Given the description of an element on the screen output the (x, y) to click on. 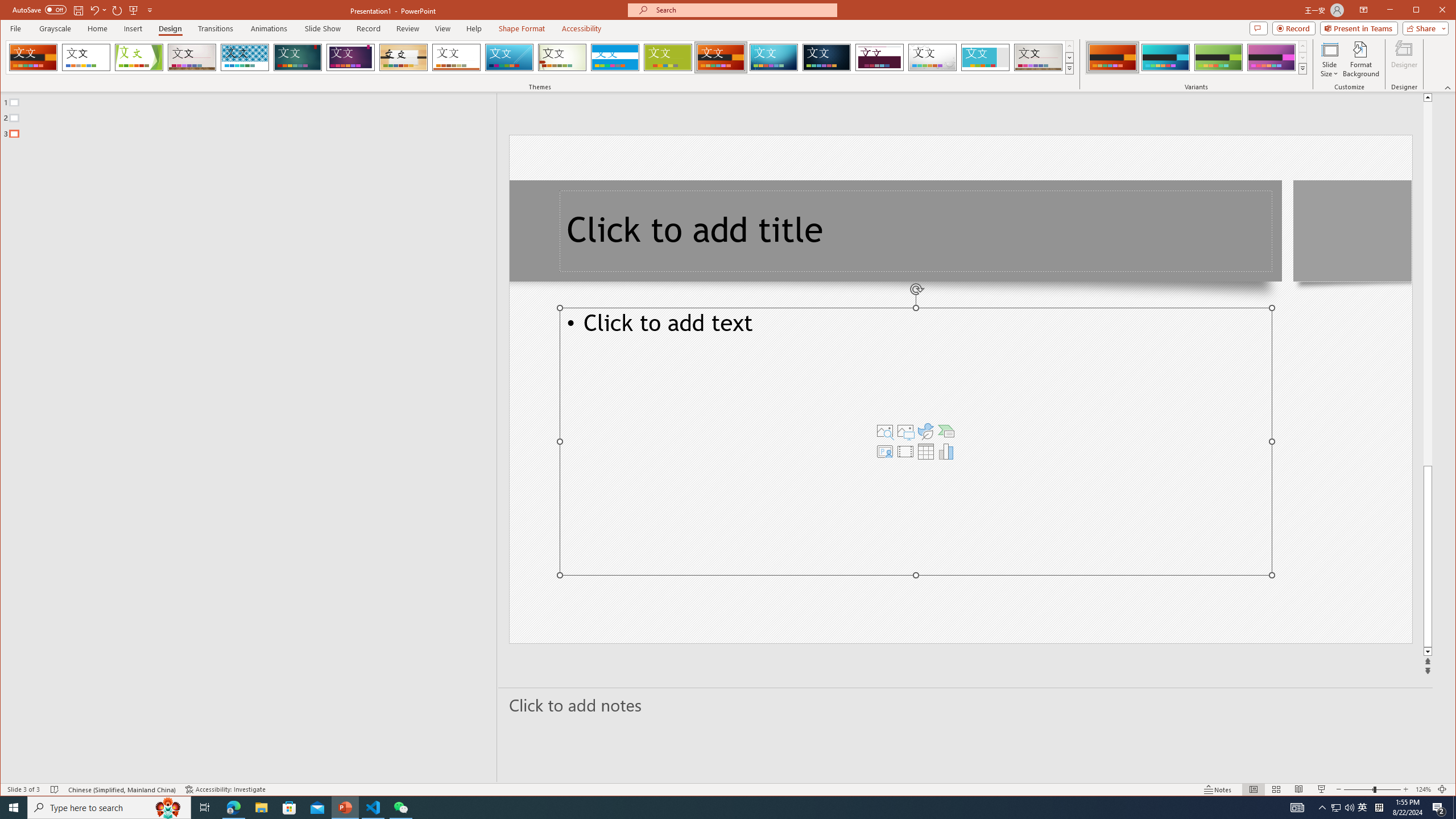
Circuit (773, 57)
Ion (297, 57)
Facet (138, 57)
